Given the description of an element on the screen output the (x, y) to click on. 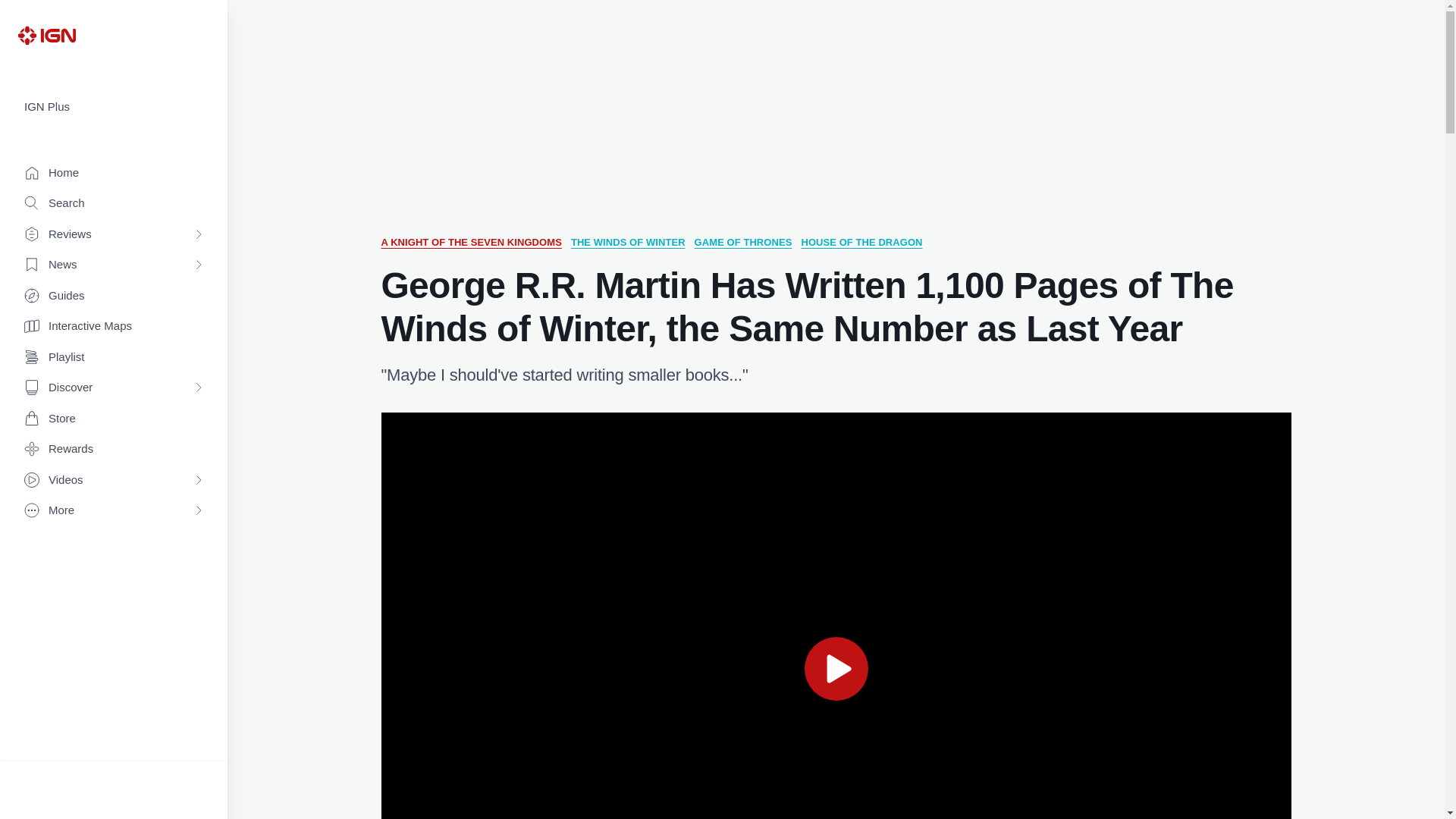
IGN Logo (46, 34)
Videos (113, 480)
Guides (113, 295)
Store (113, 418)
Reviews (113, 234)
Search (113, 203)
Videos (113, 480)
Interactive Maps (113, 326)
Playlist (113, 357)
Guides (113, 295)
